Given the description of an element on the screen output the (x, y) to click on. 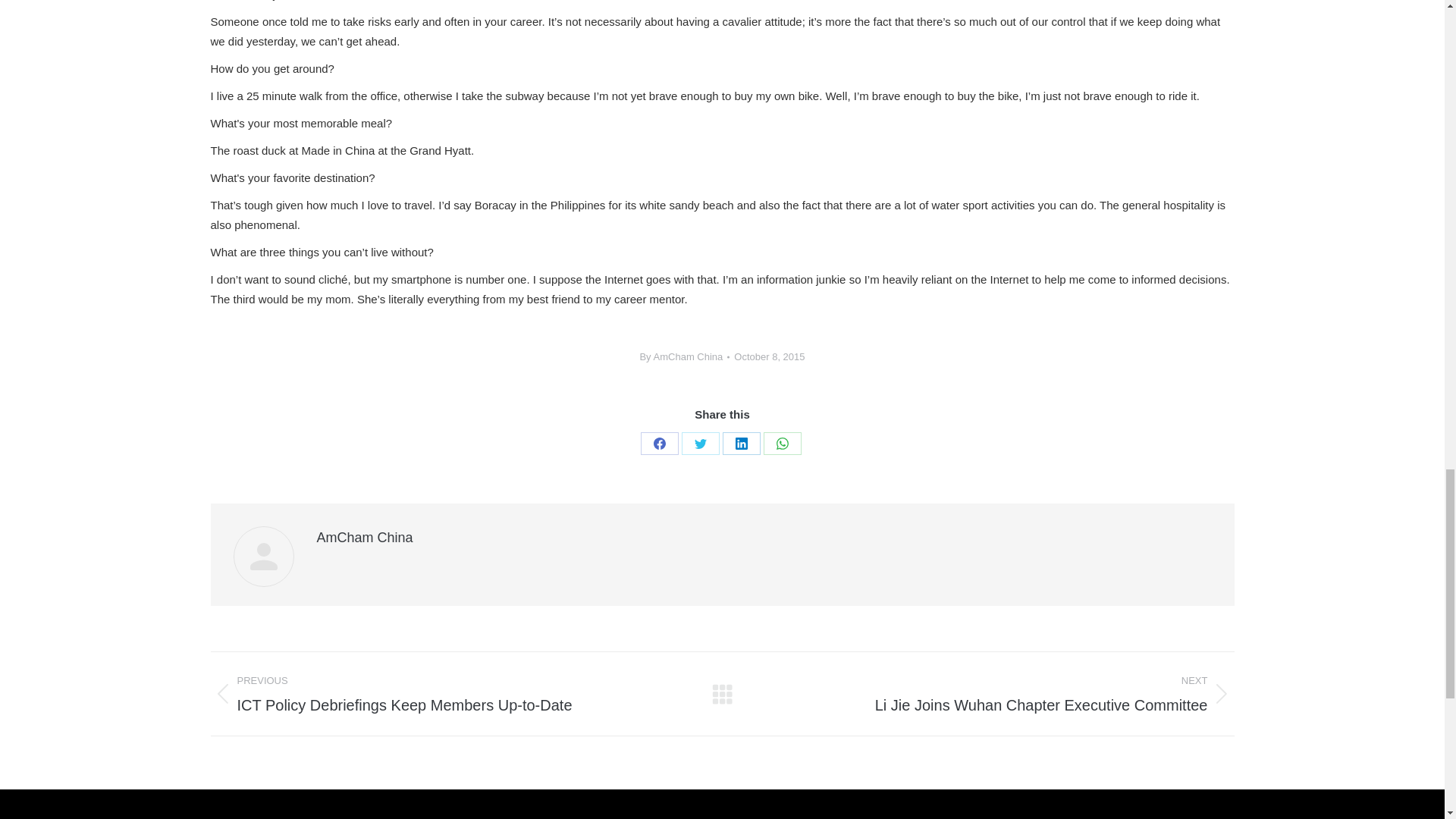
Twitter (700, 443)
View all posts by AmCham China (684, 356)
WhatsApp (781, 443)
4:00 pm (769, 356)
LinkedIn (741, 443)
Facebook (659, 443)
